Given the description of an element on the screen output the (x, y) to click on. 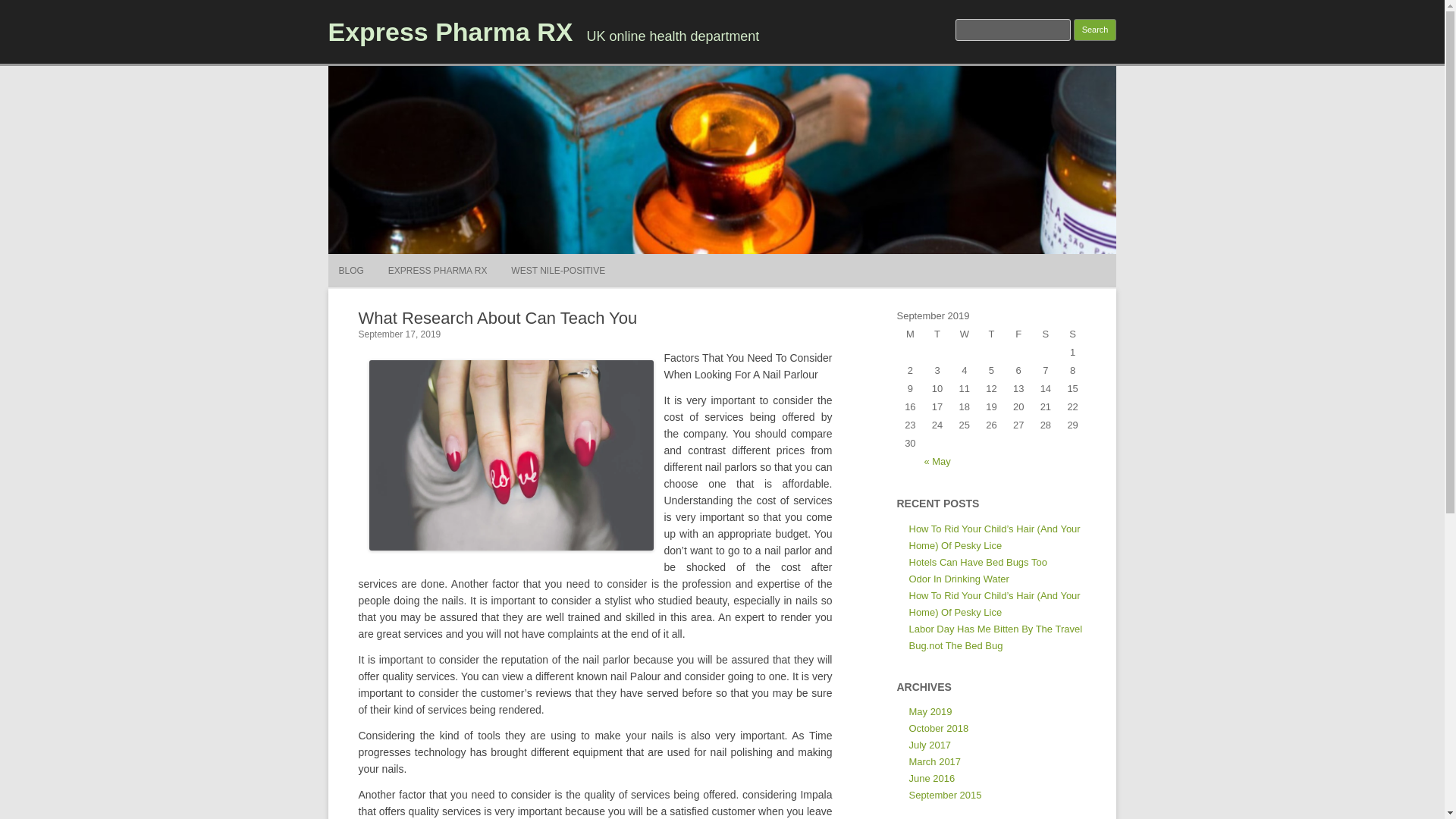
Odor In Drinking Water (958, 578)
Skip to content (757, 258)
6:24 am (399, 334)
Skip to content (757, 258)
WEST NILE-POSITIVE (558, 270)
Friday (1018, 334)
Search (1095, 29)
May 2019 (930, 711)
March 2017 (934, 761)
EXPRESS PHARMA RX (437, 270)
